Given the description of an element on the screen output the (x, y) to click on. 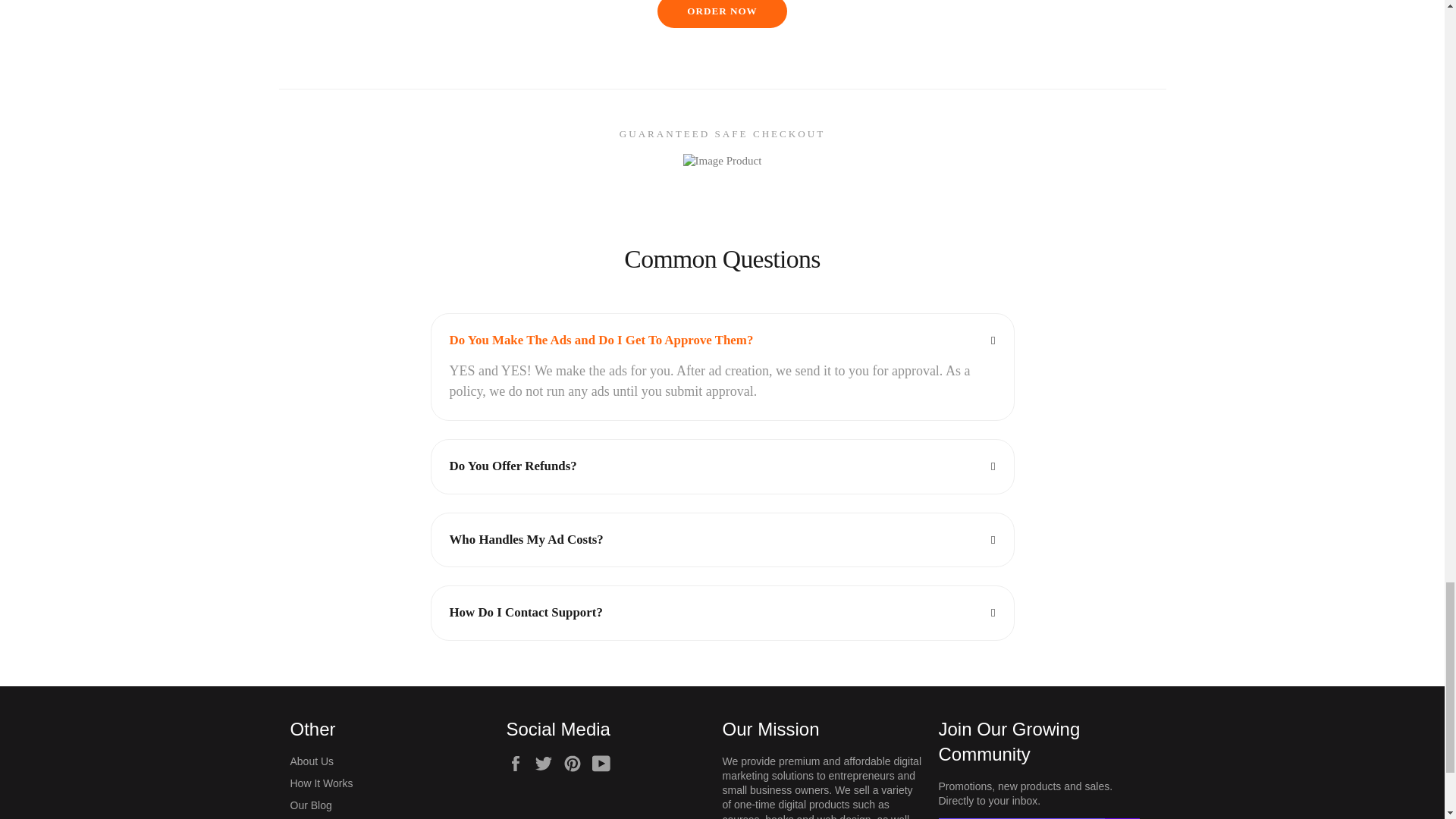
Socialtize on Twitter (547, 763)
Socialtize on YouTube (604, 763)
Socialtize on Facebook (519, 763)
Socialtize on Pinterest (576, 763)
